Given the description of an element on the screen output the (x, y) to click on. 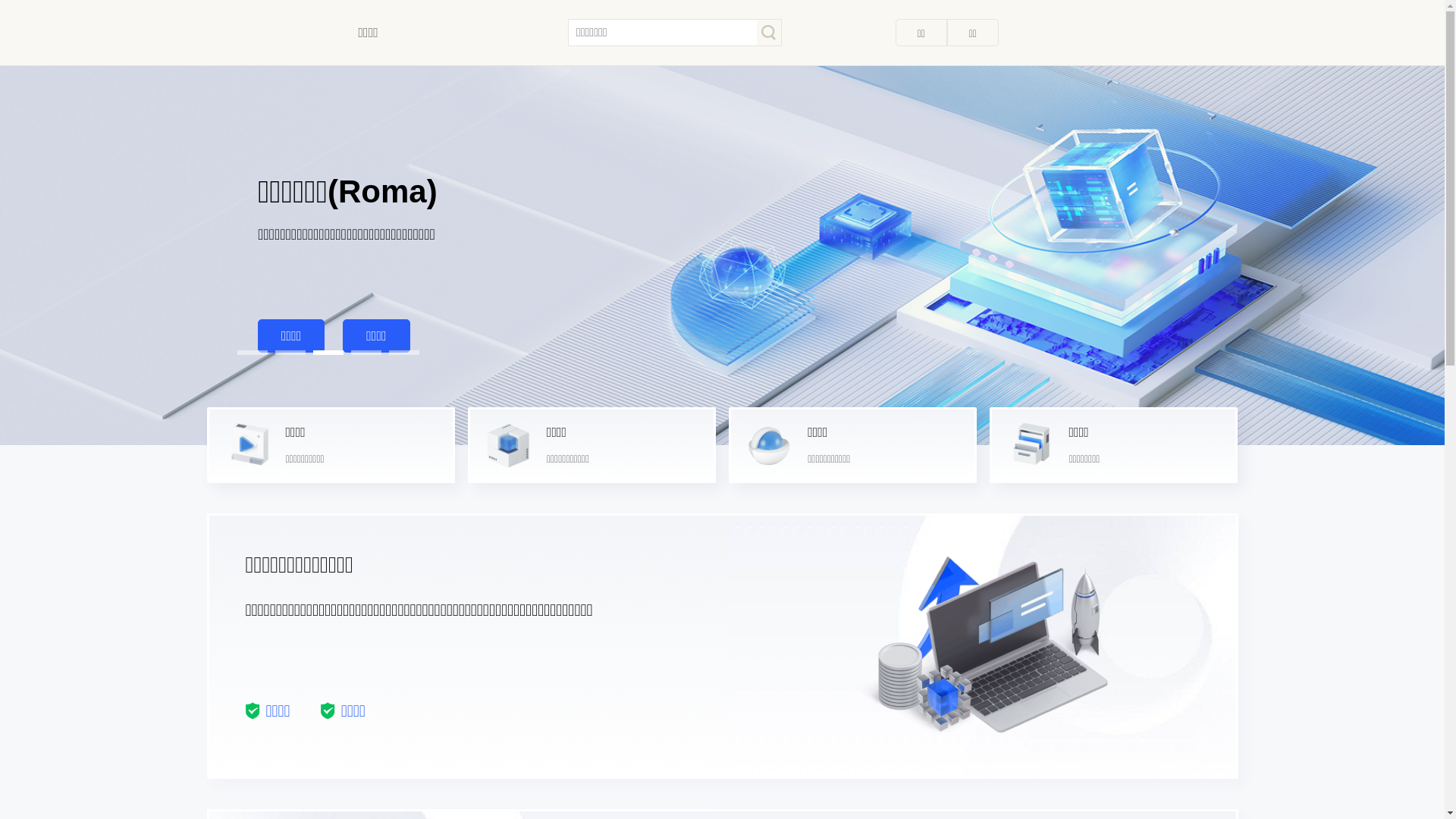
3 Element type: text (319, 357)
4 Element type: text (357, 357)
1 Element type: text (243, 357)
5 Element type: text (395, 357)
2 Element type: text (281, 357)
